Given the description of an element on the screen output the (x, y) to click on. 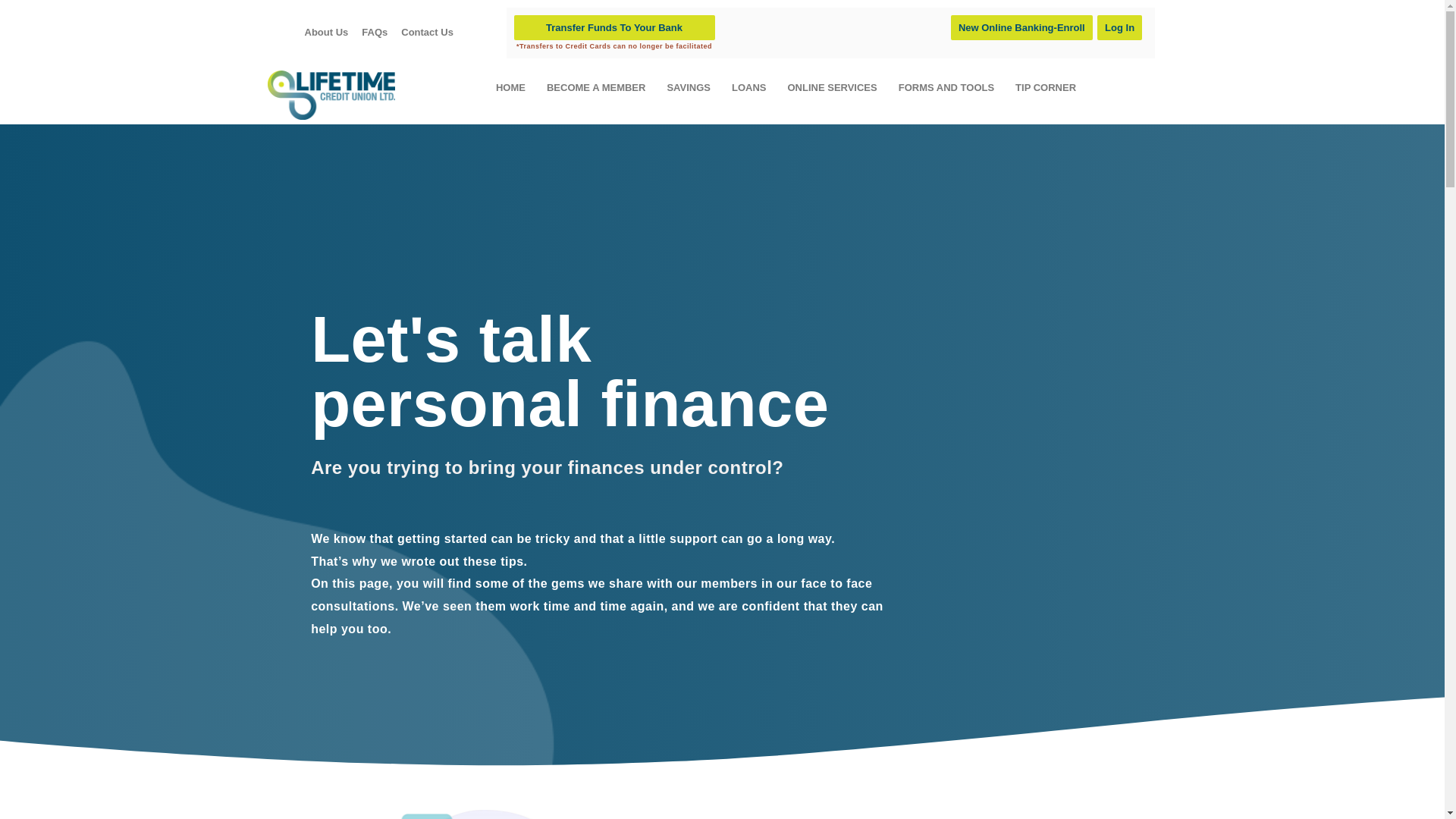
Transfer Funds To Your Bank (613, 27)
SAVINGS (688, 87)
New Online Banking-Enroll (1021, 27)
FAQs (374, 32)
ONLINE SERVICES (831, 87)
About Us (326, 32)
Log In (1119, 27)
LOANS (748, 87)
TIP CORNER (1045, 87)
HOME (510, 87)
